Given the description of an element on the screen output the (x, y) to click on. 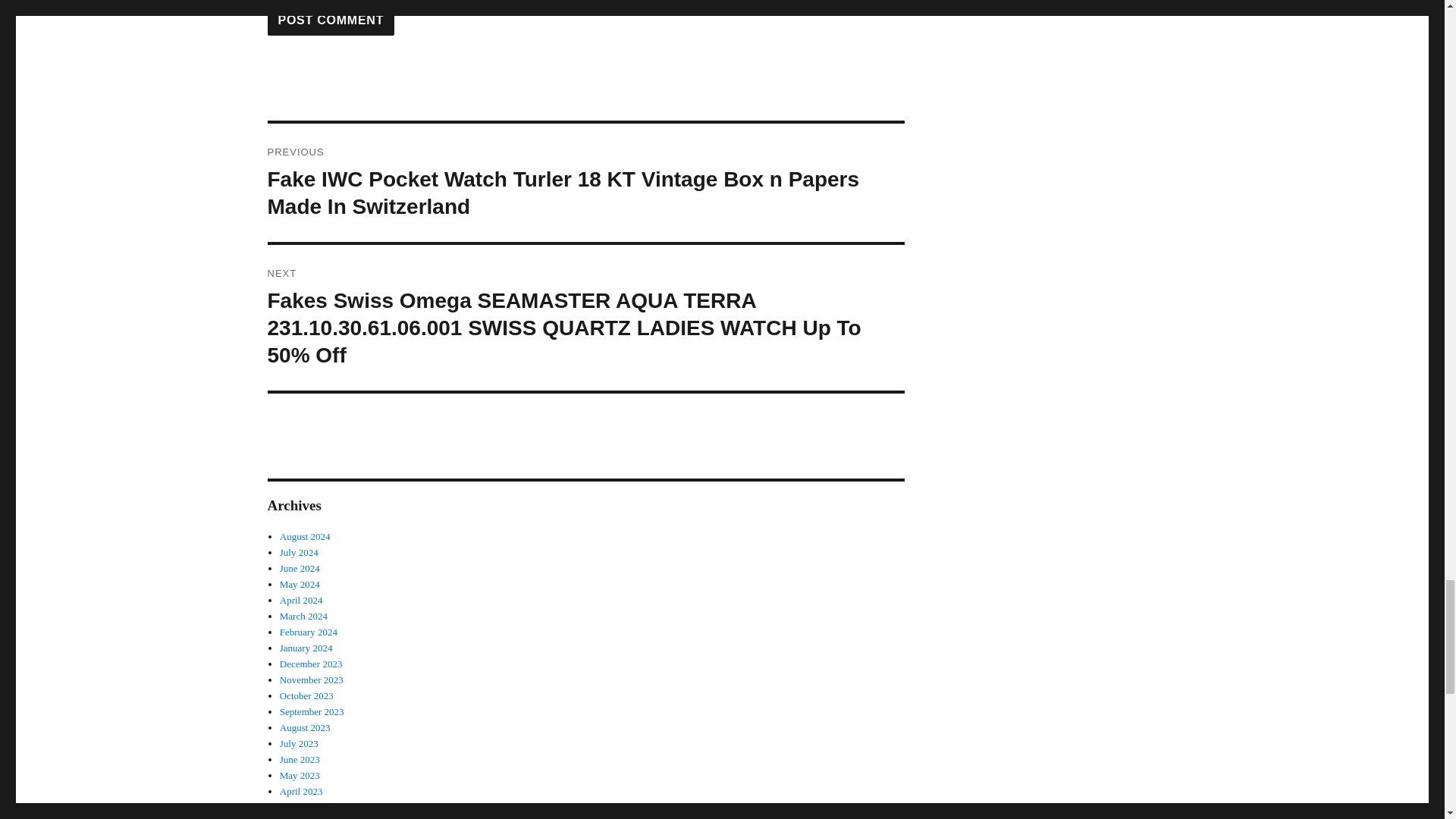
October 2023 (306, 695)
March 2024 (303, 615)
August 2023 (304, 727)
February 2023 (308, 818)
March 2023 (303, 807)
Post Comment (330, 20)
February 2024 (308, 632)
January 2024 (306, 647)
August 2024 (304, 536)
June 2023 (299, 758)
December 2023 (310, 663)
July 2024 (298, 552)
November 2023 (311, 679)
September 2023 (311, 711)
April 2024 (301, 600)
